Given the description of an element on the screen output the (x, y) to click on. 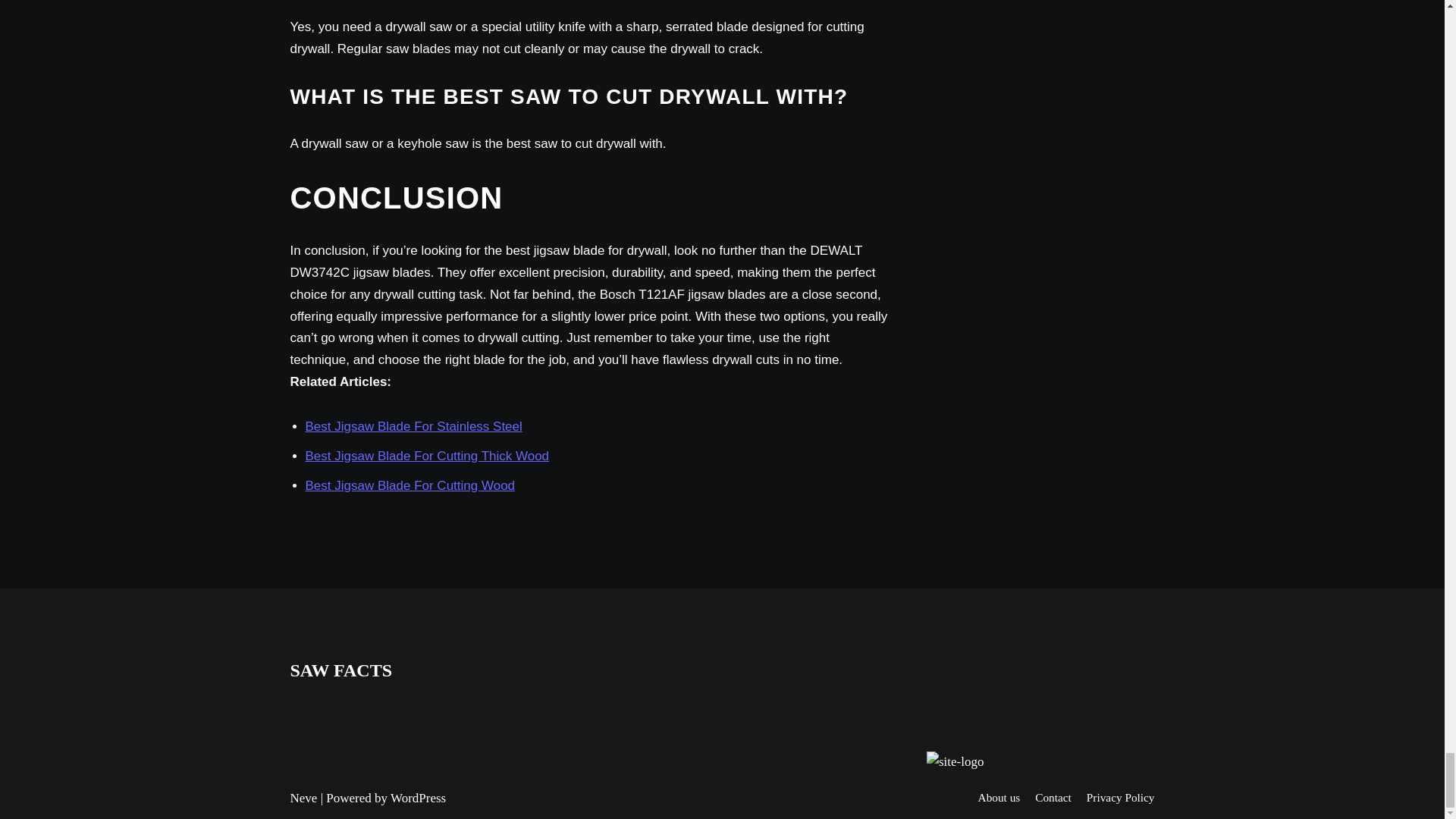
Best Jigsaw Blade For Stainless Steel (412, 426)
Best Jigsaw Blade For Cutting Thick Wood (426, 455)
